Given the description of an element on the screen output the (x, y) to click on. 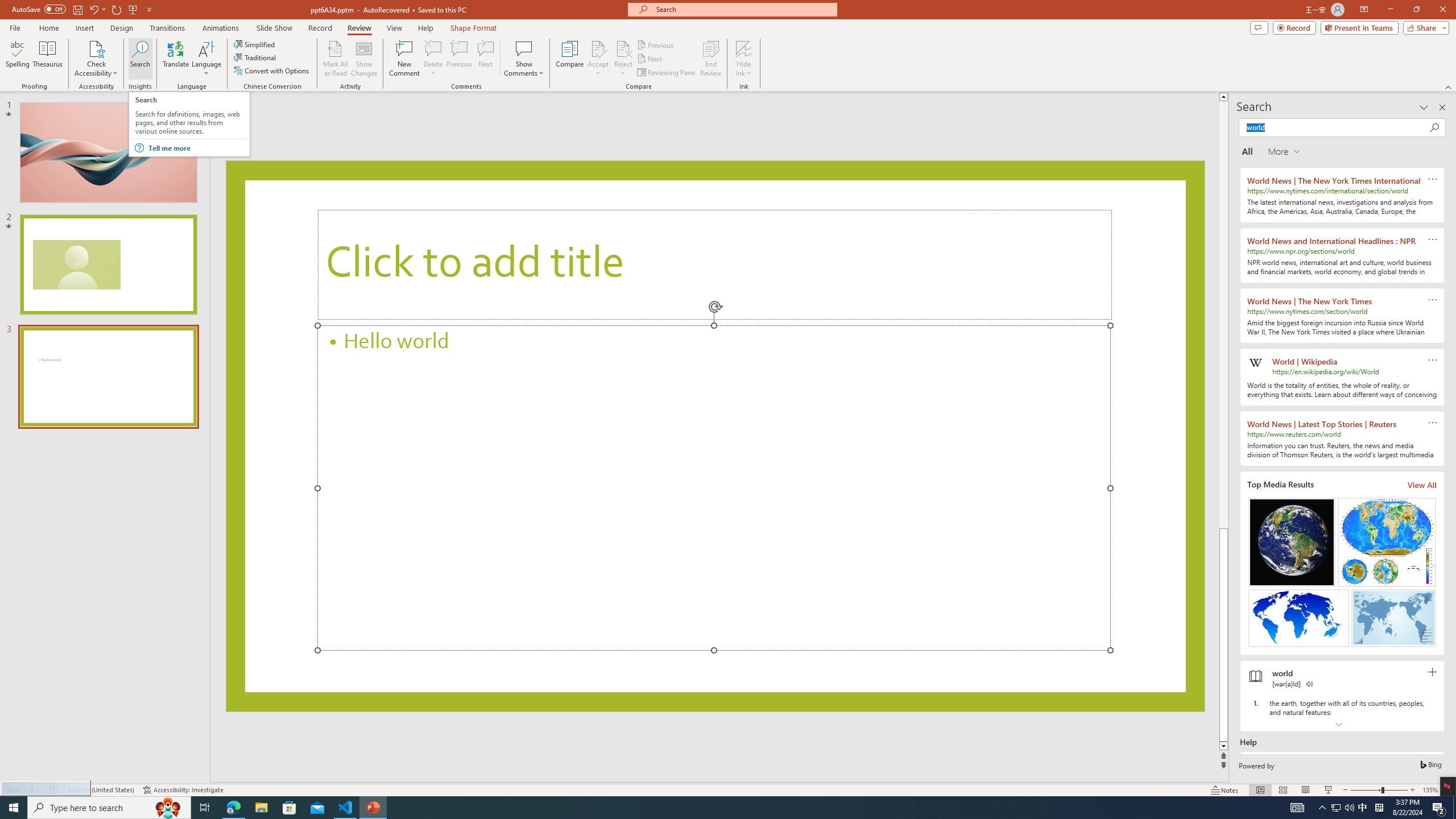
Next (649, 58)
Mark All as Read (335, 58)
Hide Ink (743, 58)
Compare (569, 58)
Check Accessibility (95, 58)
Accept (598, 58)
Show Comments (524, 58)
